Given the description of an element on the screen output the (x, y) to click on. 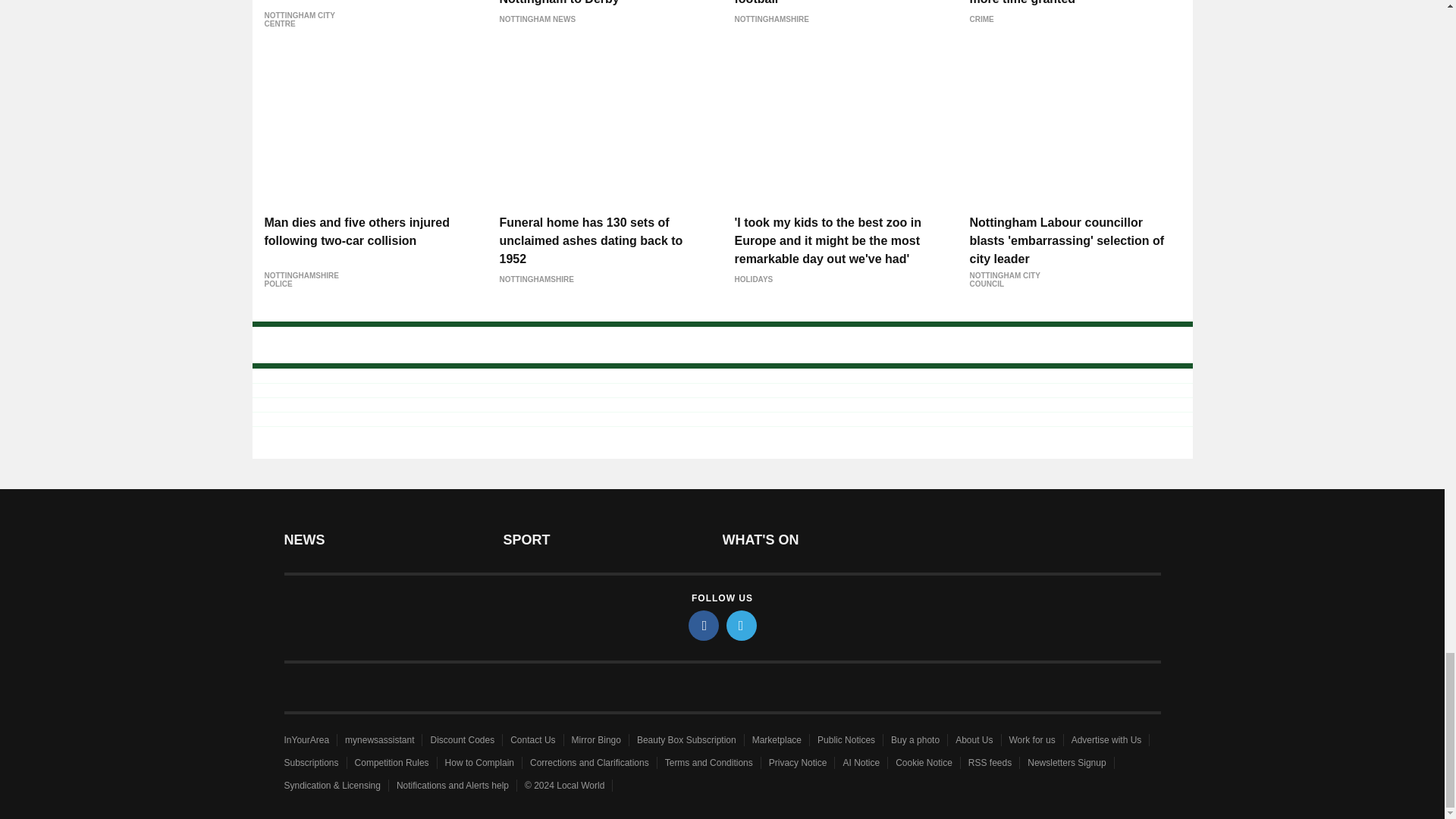
twitter (741, 625)
facebook (703, 625)
